Given the description of an element on the screen output the (x, y) to click on. 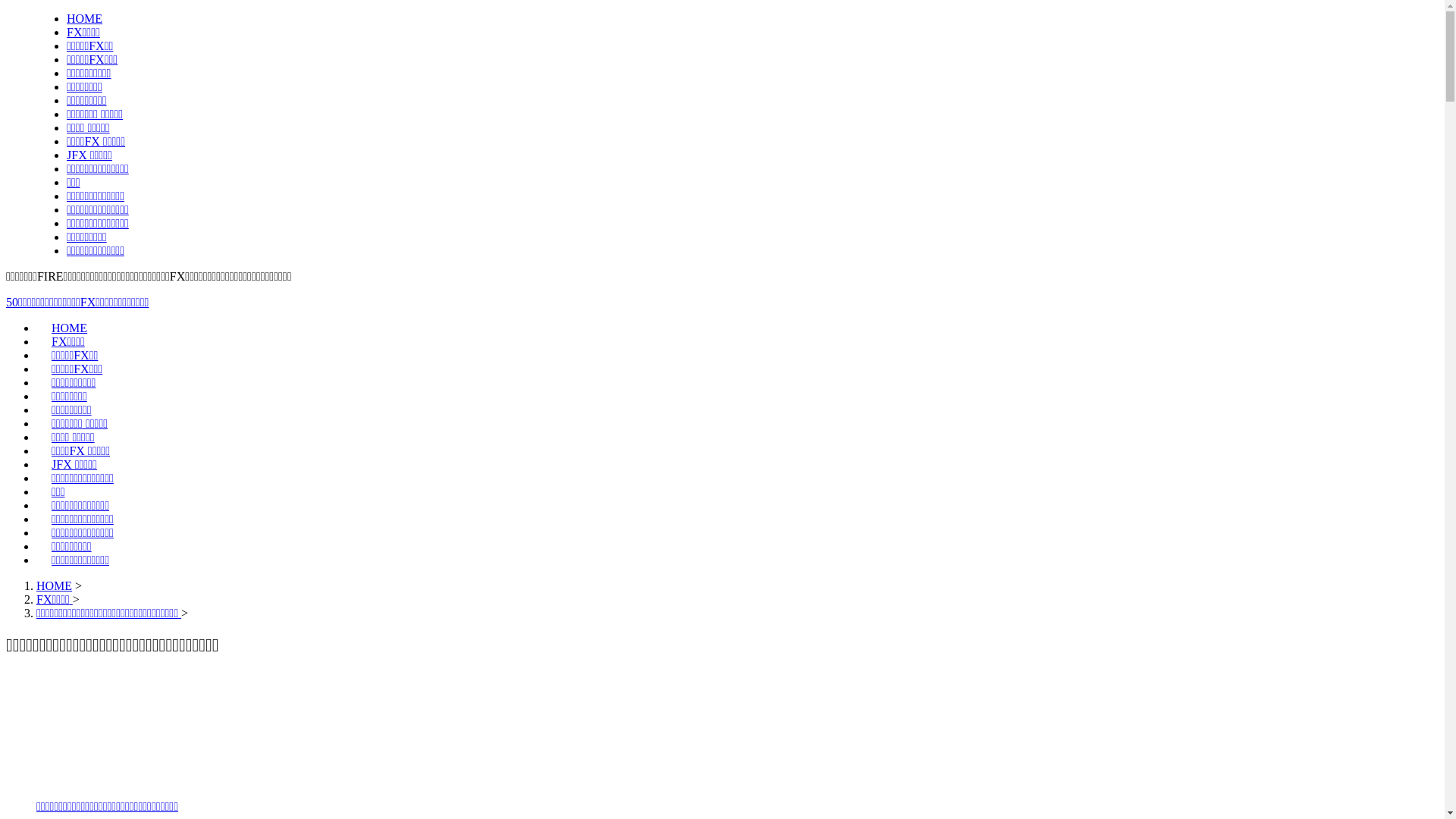
HOME Element type: text (84, 18)
HOME Element type: text (69, 327)
HOME Element type: text (54, 585)
